Given the description of an element on the screen output the (x, y) to click on. 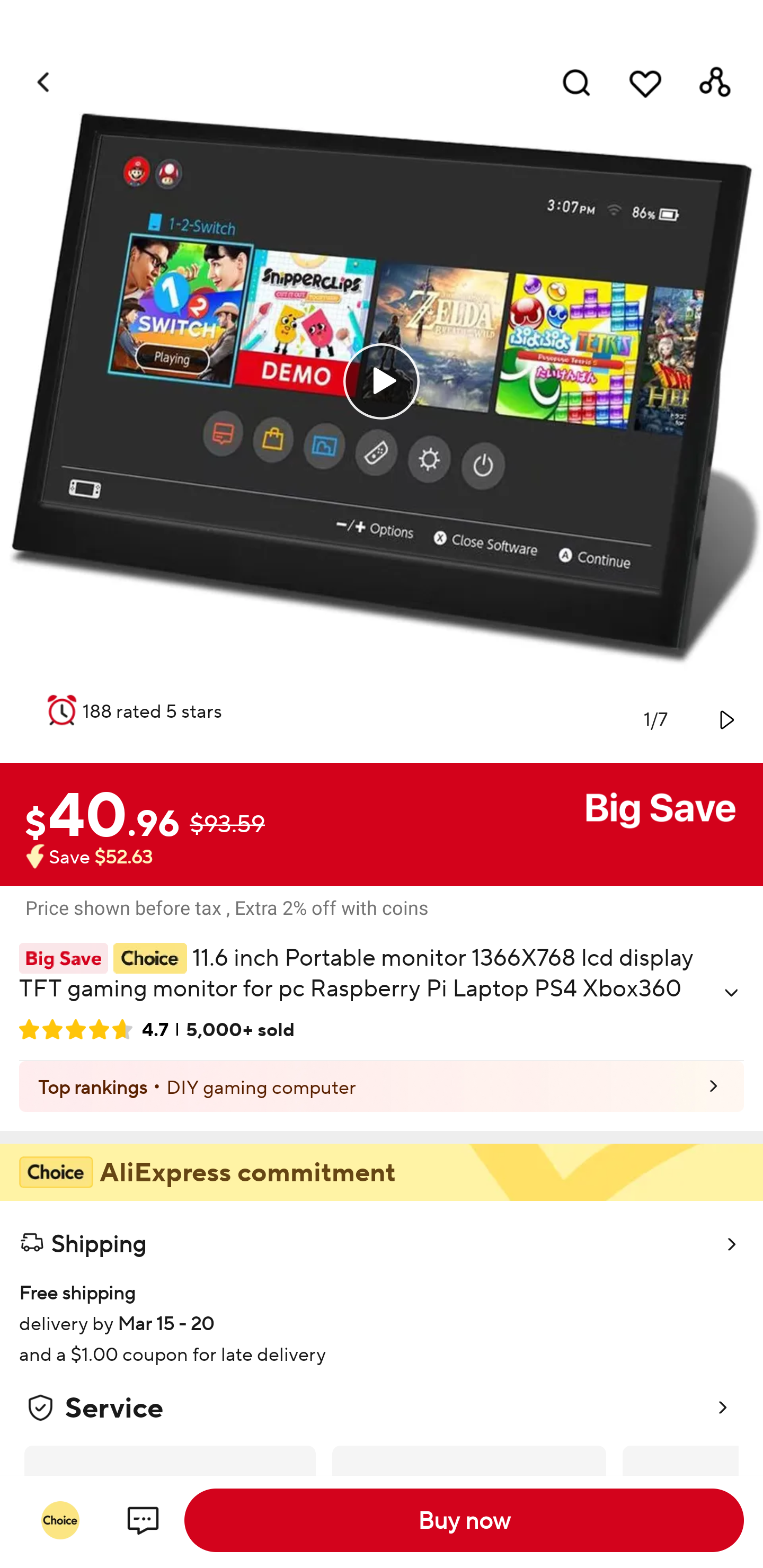
0.0 (381, 381)
Navigate up (44, 82)
 (724, 719)
 (730, 992)
Buy now (463, 1520)
